Given the description of an element on the screen output the (x, y) to click on. 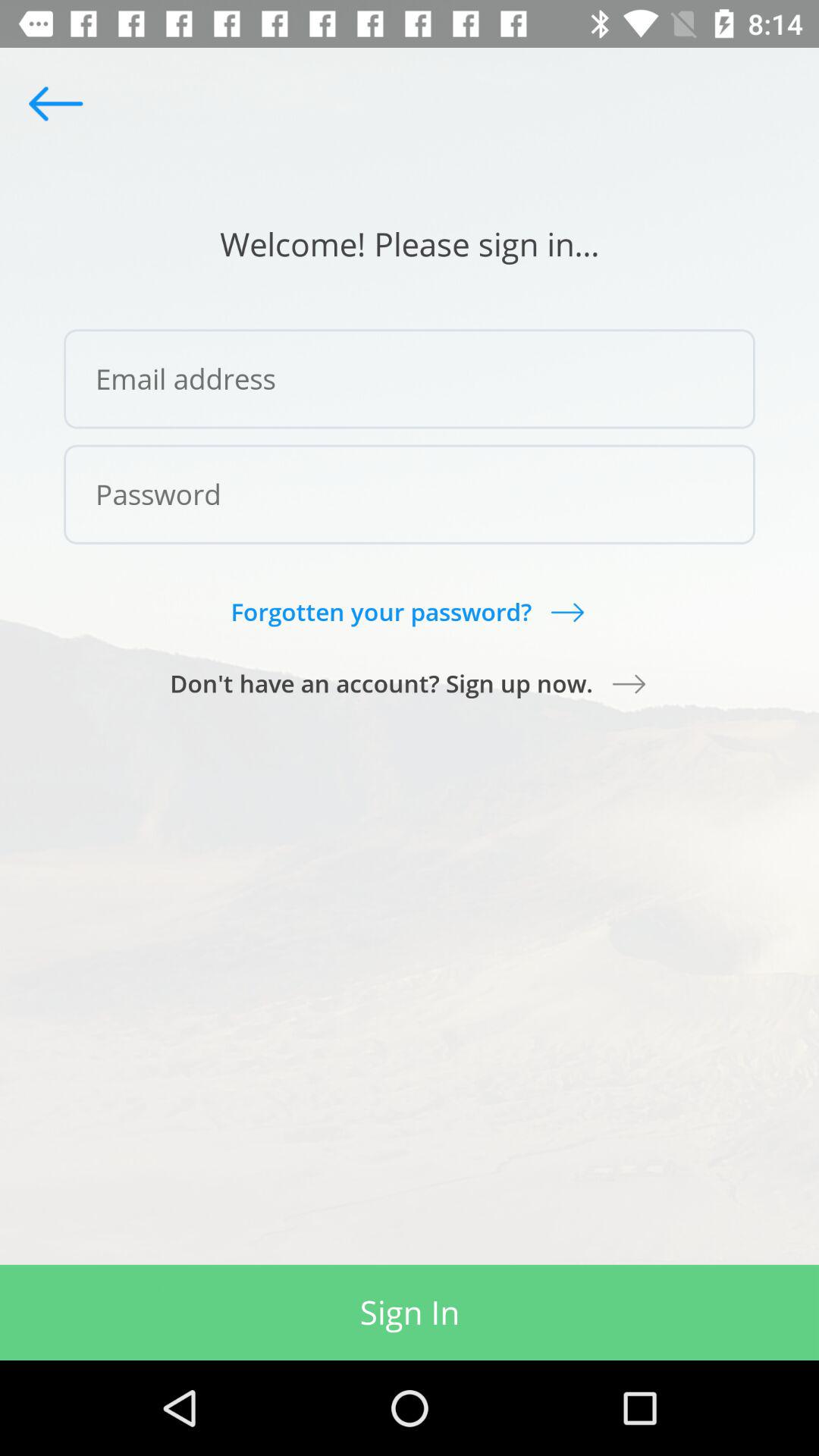
enter email (409, 378)
